Given the description of an element on the screen output the (x, y) to click on. 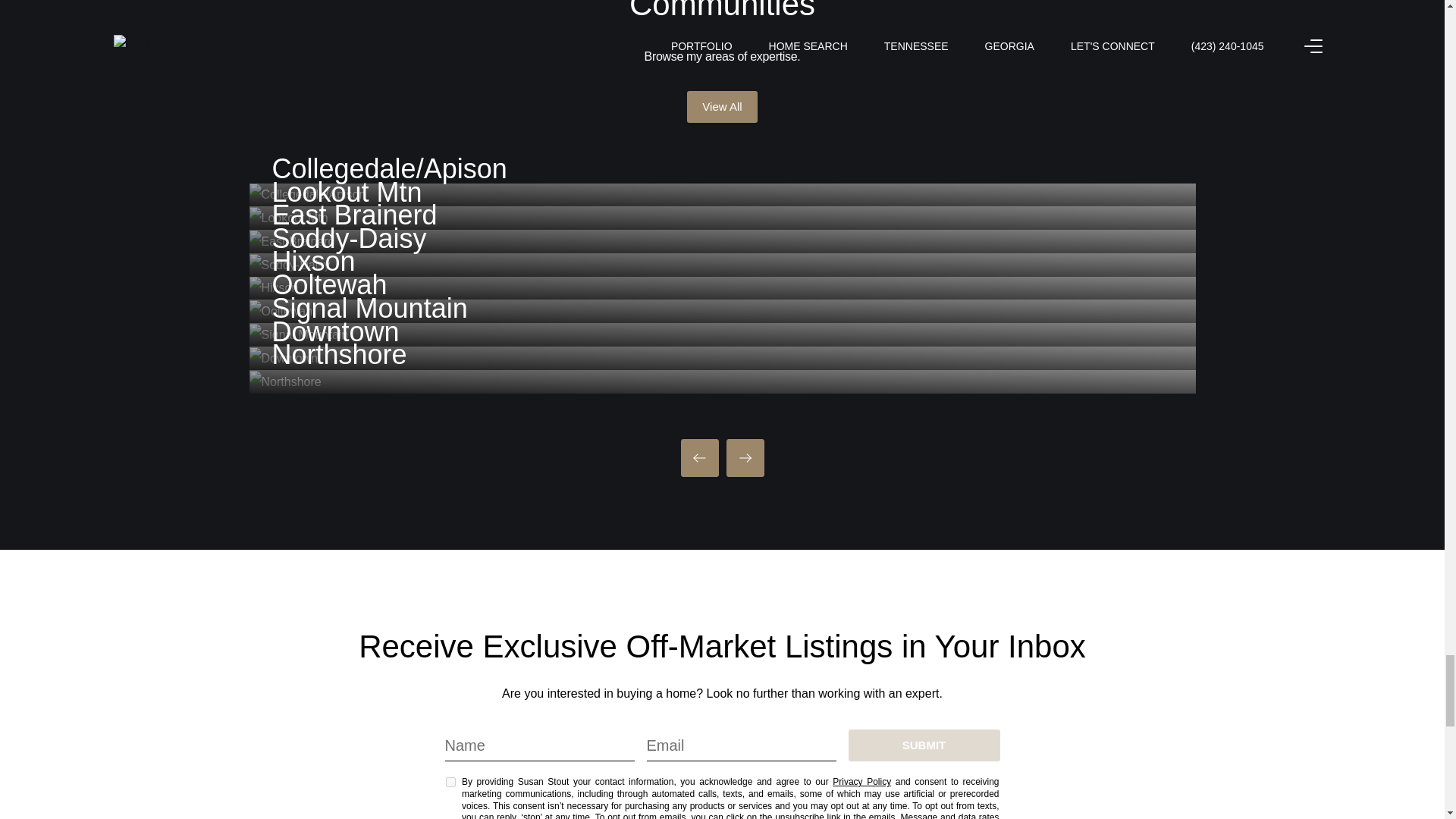
on (450, 782)
